Given the description of an element on the screen output the (x, y) to click on. 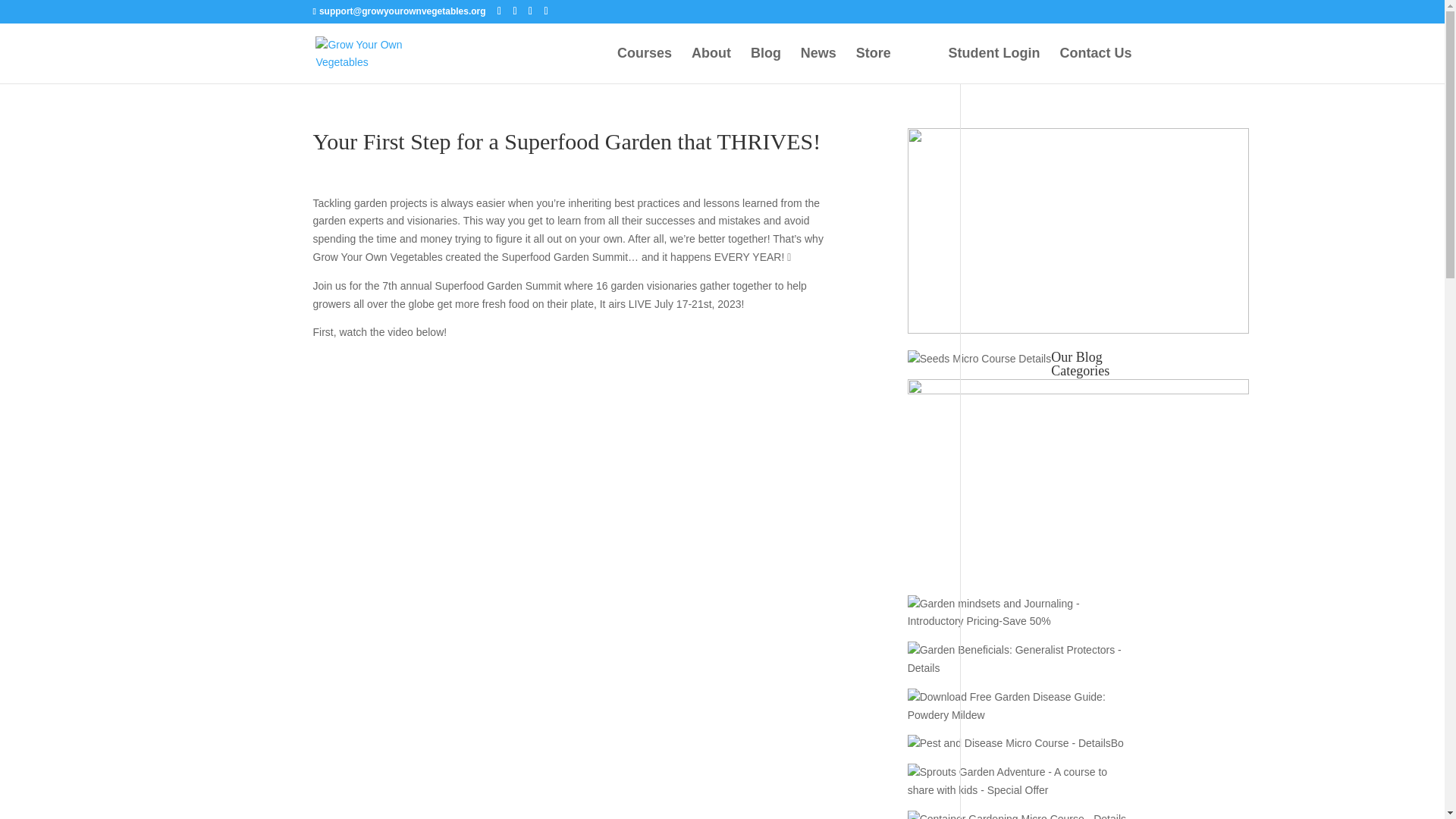
News (817, 65)
Contact Us (1095, 65)
Store (873, 65)
Boost Immune (1017, 778)
Student Login (995, 65)
Courses (644, 65)
About (710, 65)
